Given the description of an element on the screen output the (x, y) to click on. 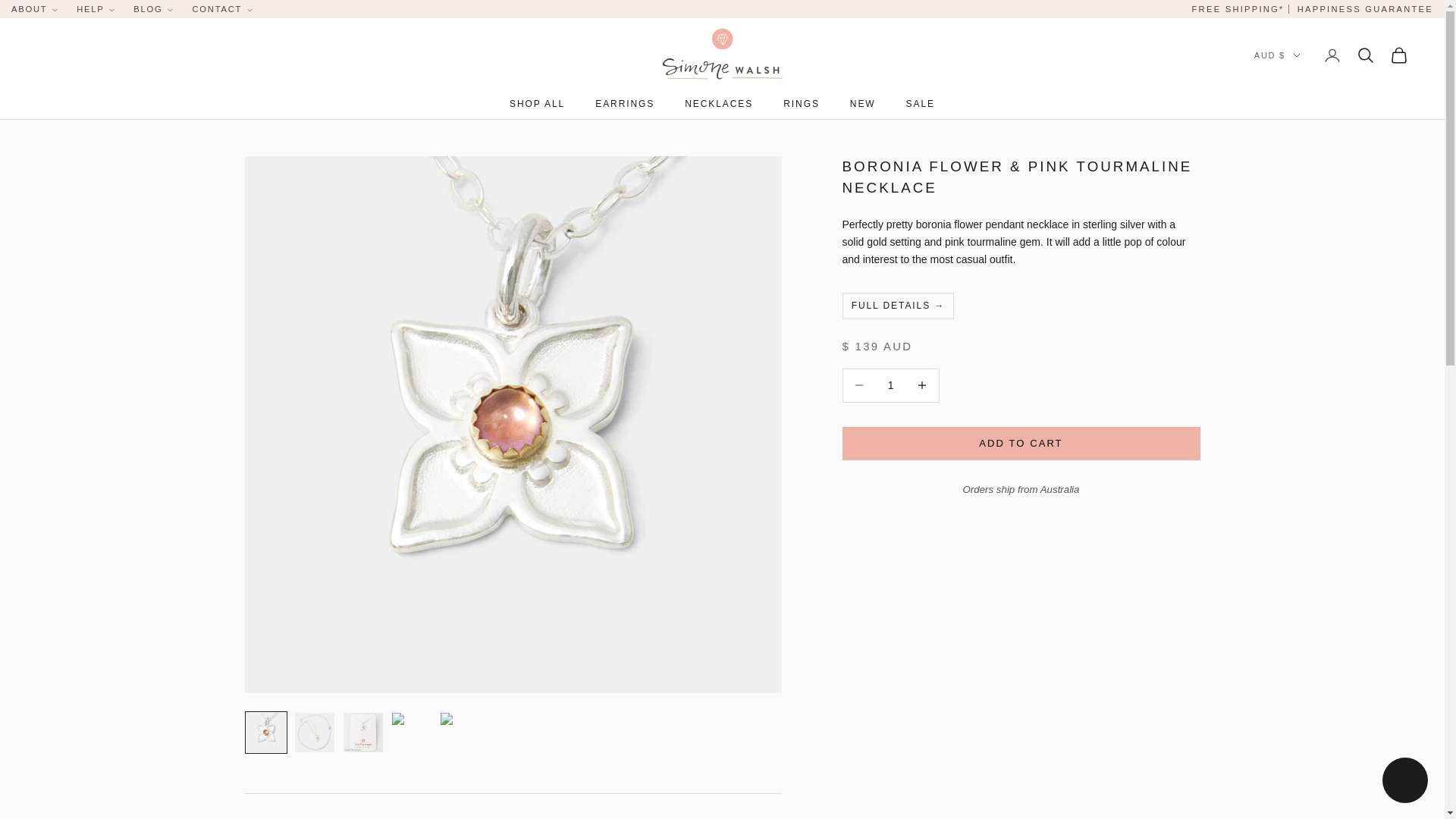
RINGS (801, 103)
Shopify online store chat (1404, 781)
NEW (863, 103)
NECKLACES (718, 103)
SALE (919, 103)
1 (890, 384)
SHOP ALL (536, 103)
EARRINGS (624, 103)
Your cart (1398, 54)
